Given the description of an element on the screen output the (x, y) to click on. 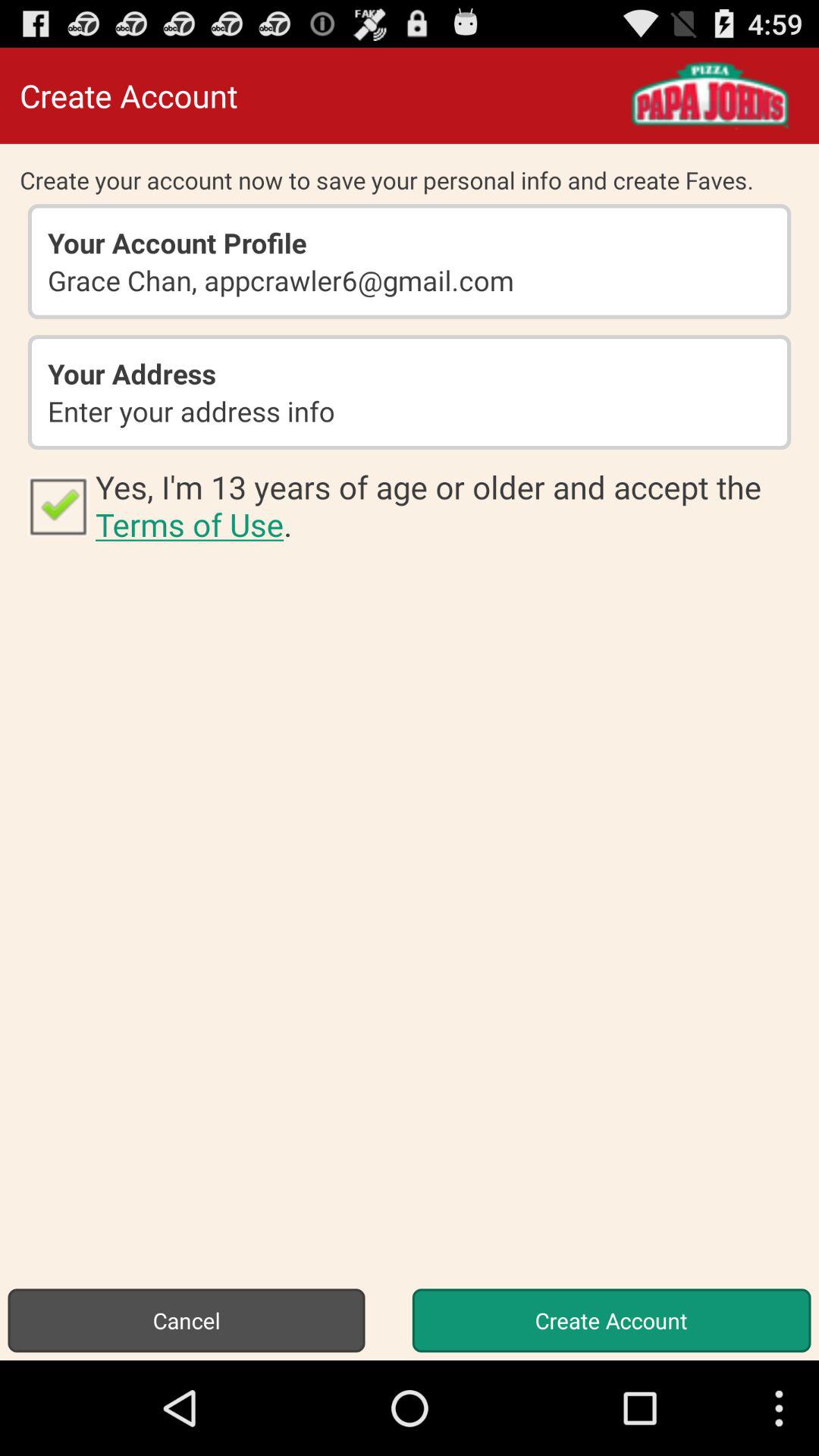
select the yes i m (447, 505)
